Given the description of an element on the screen output the (x, y) to click on. 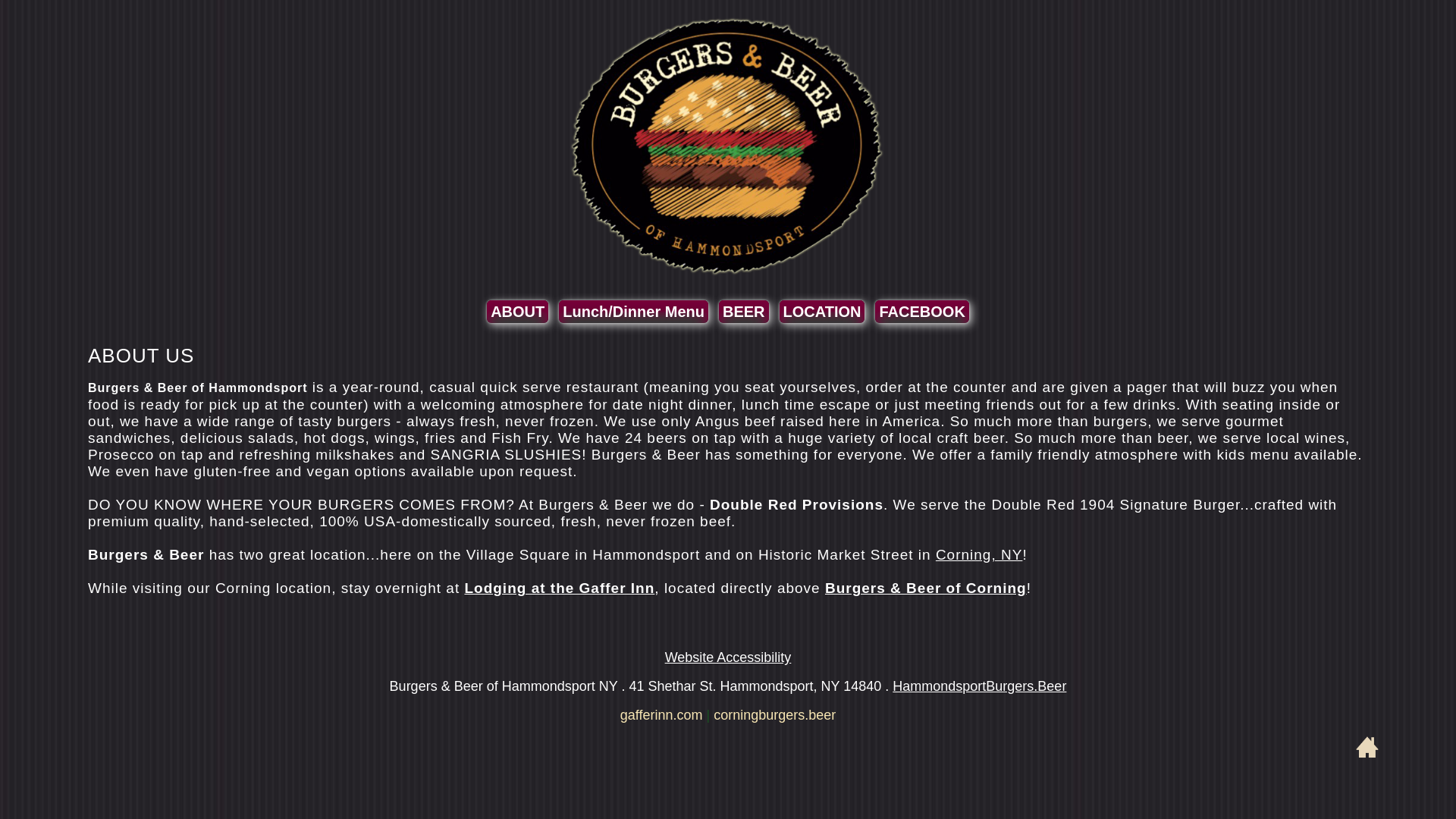
Corning, NY (979, 554)
LOCATION (821, 311)
Lodging at the Gaffer Inn (558, 587)
ABOUT (517, 311)
corningburgers.beer (774, 714)
BEER (743, 311)
gafferinn.com (661, 714)
Website Accessibility (728, 657)
FACEBOOK (921, 311)
HammondsportBurgers.Beer (978, 685)
